Given the description of an element on the screen output the (x, y) to click on. 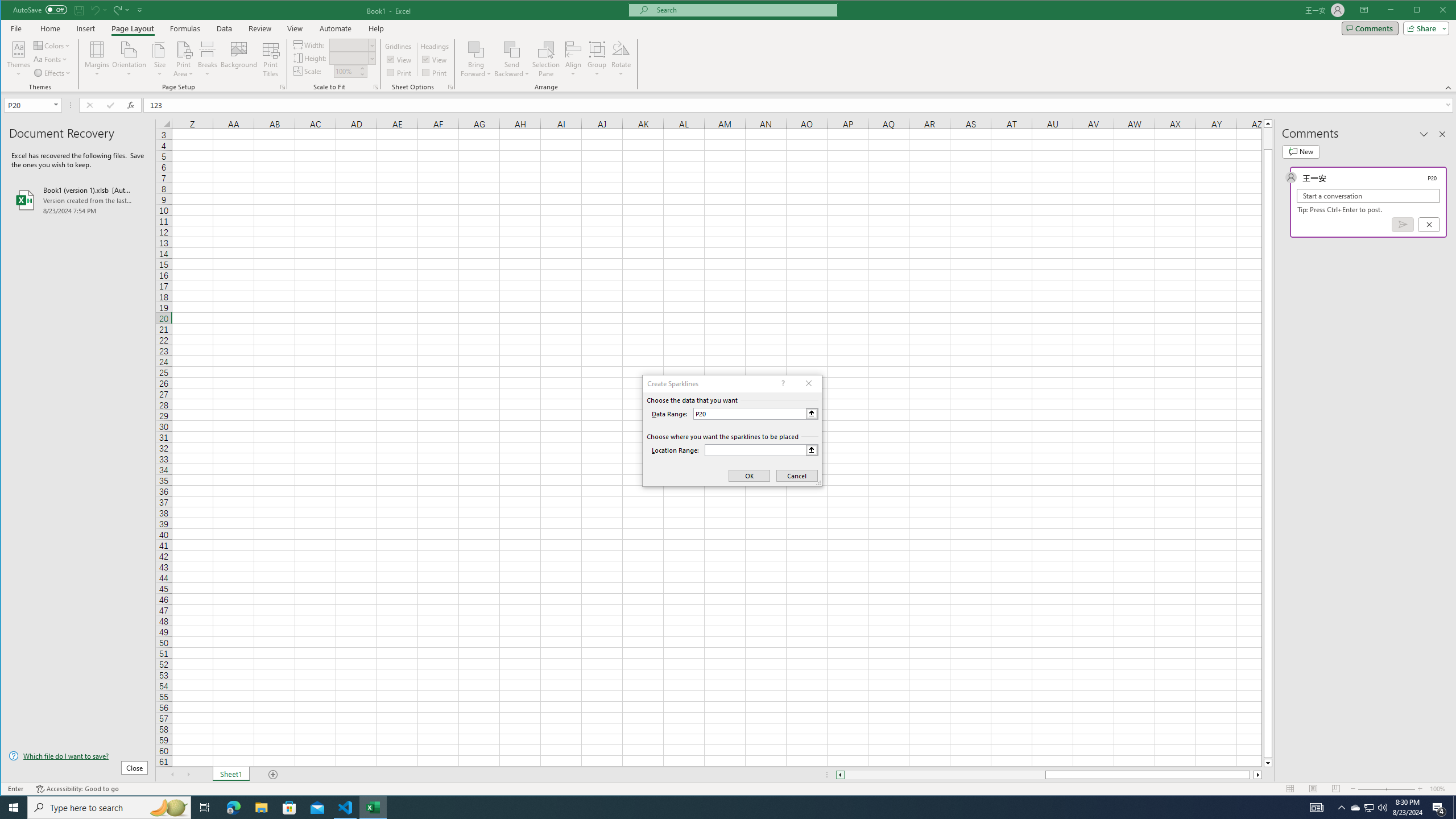
Themes (18, 59)
Save (79, 9)
Column right (1258, 774)
Microsoft search (742, 10)
